Given the description of an element on the screen output the (x, y) to click on. 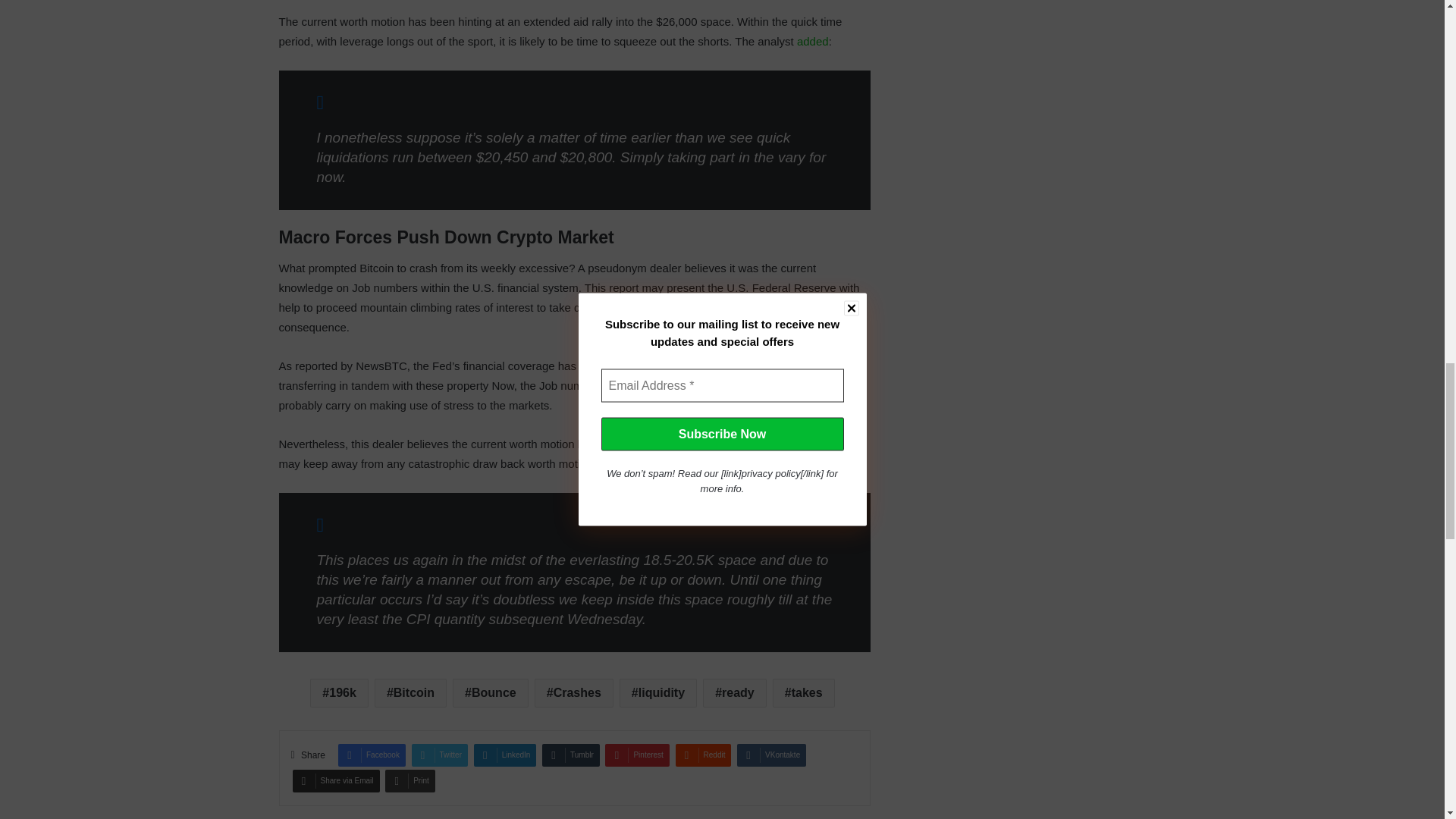
said (820, 463)
added (812, 41)
